Given the description of an element on the screen output the (x, y) to click on. 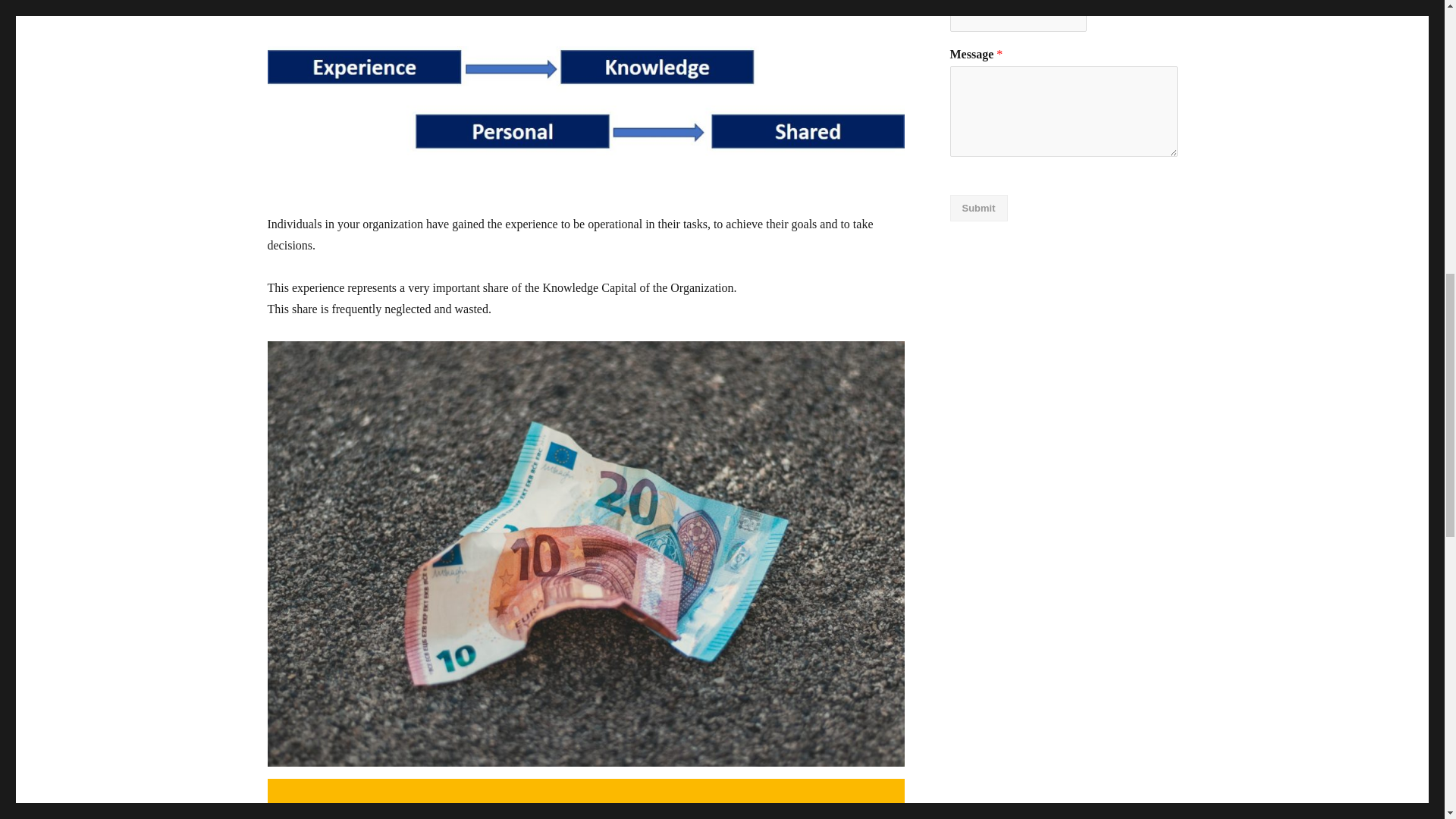
Submit (978, 207)
